Given the description of an element on the screen output the (x, y) to click on. 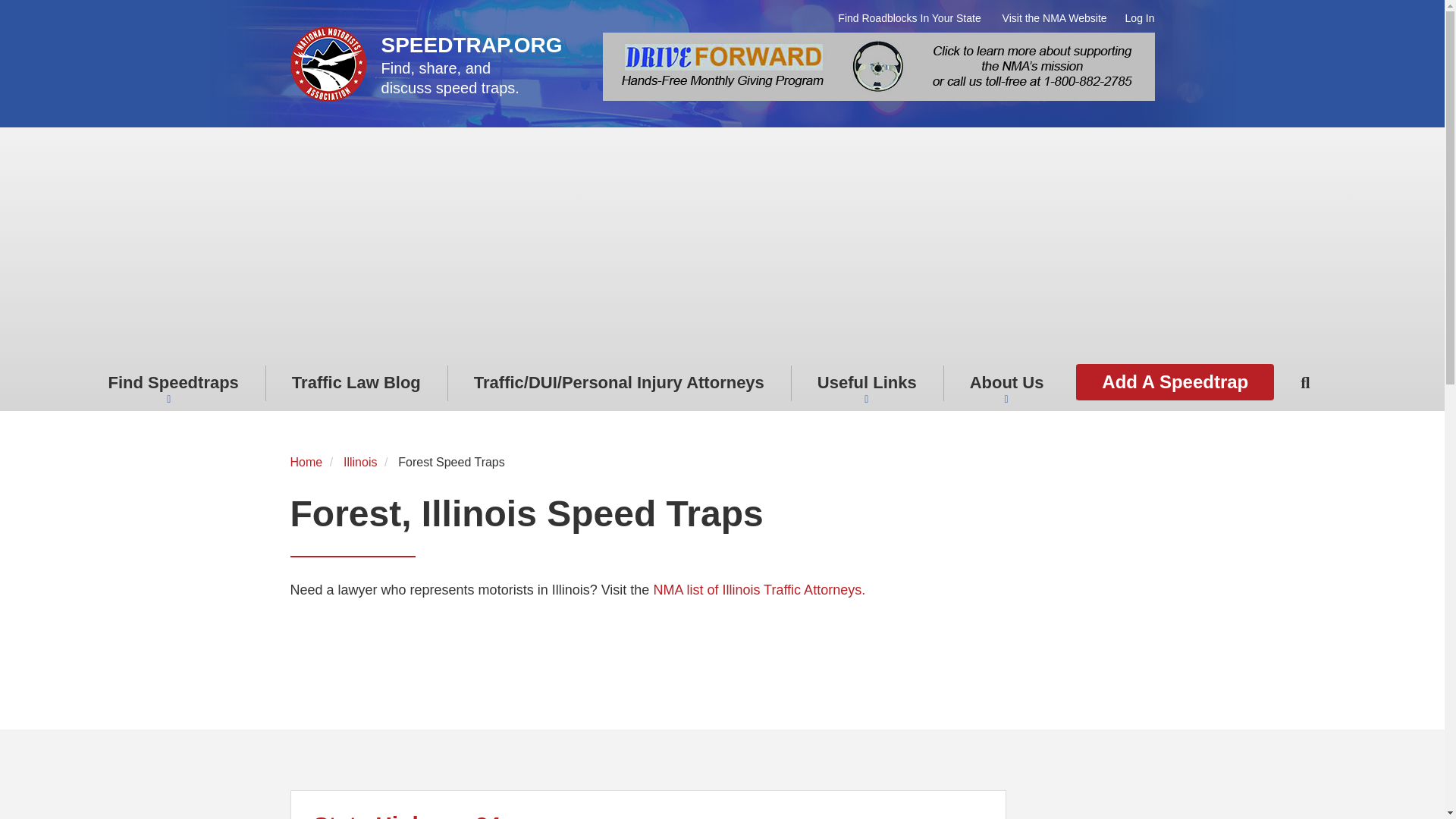
Advertisement (565, 650)
Advertisement (1091, 804)
